Given the description of an element on the screen output the (x, y) to click on. 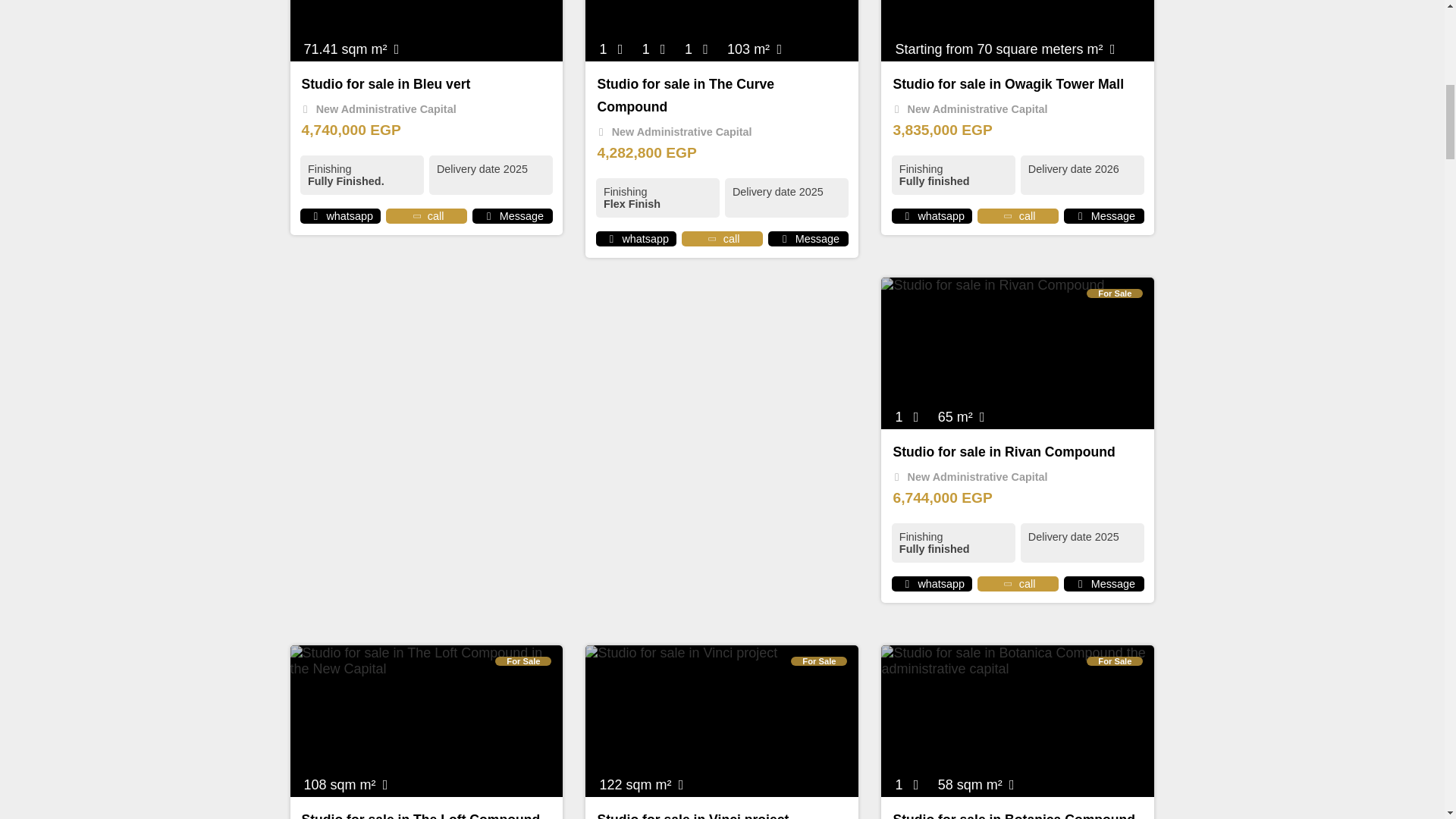
whatsapp (611, 238)
whatsapp (906, 583)
whatsapp (906, 215)
whatsapp (315, 215)
